Given the description of an element on the screen output the (x, y) to click on. 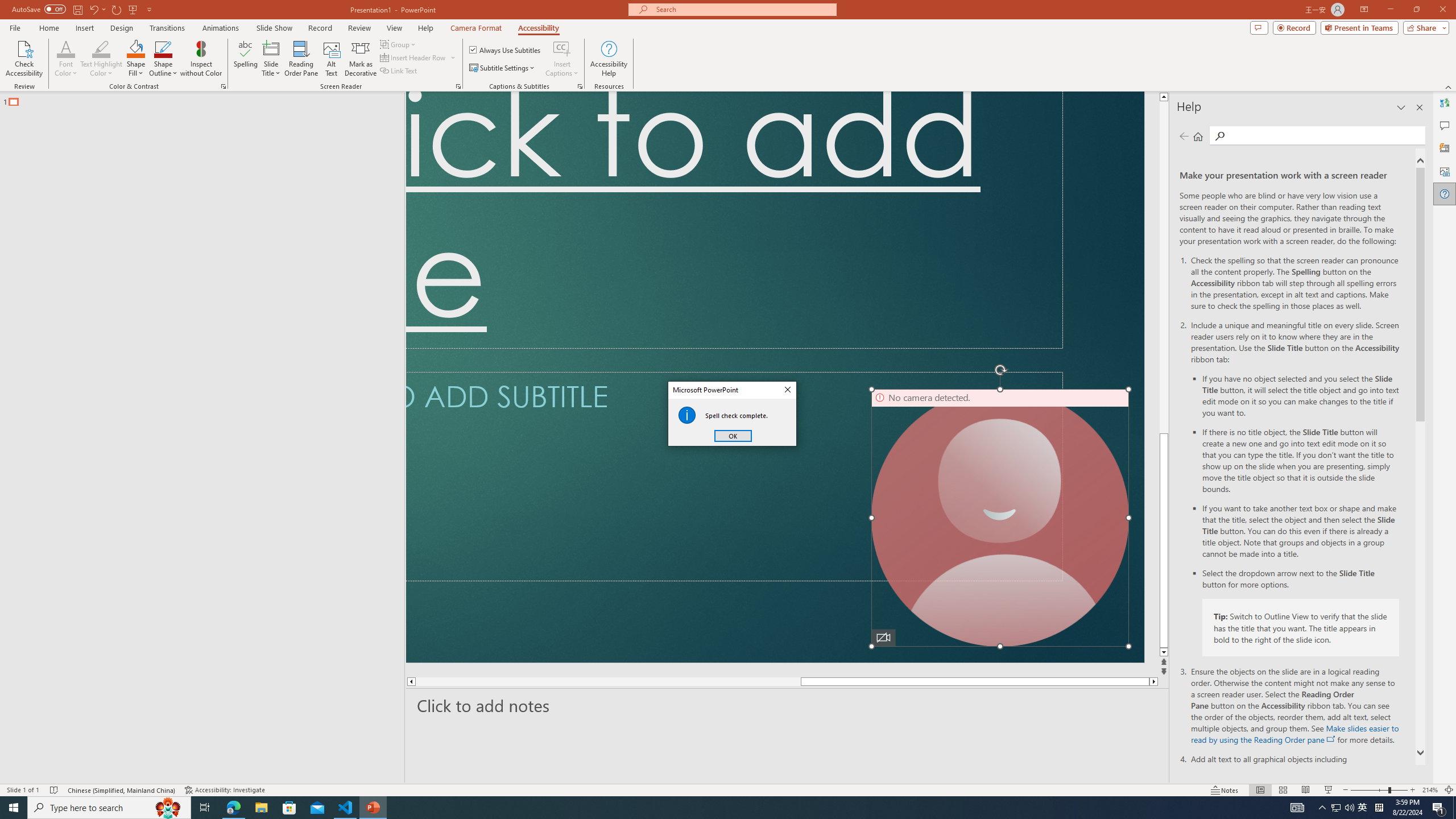
Shape Fill Orange, Accent 2 (135, 48)
Insert Header Row (413, 56)
Camera Format (475, 28)
Zoom 214% (1430, 790)
Camera 8, No camera detected. (999, 517)
Alt Text (331, 58)
